Given the description of an element on the screen output the (x, y) to click on. 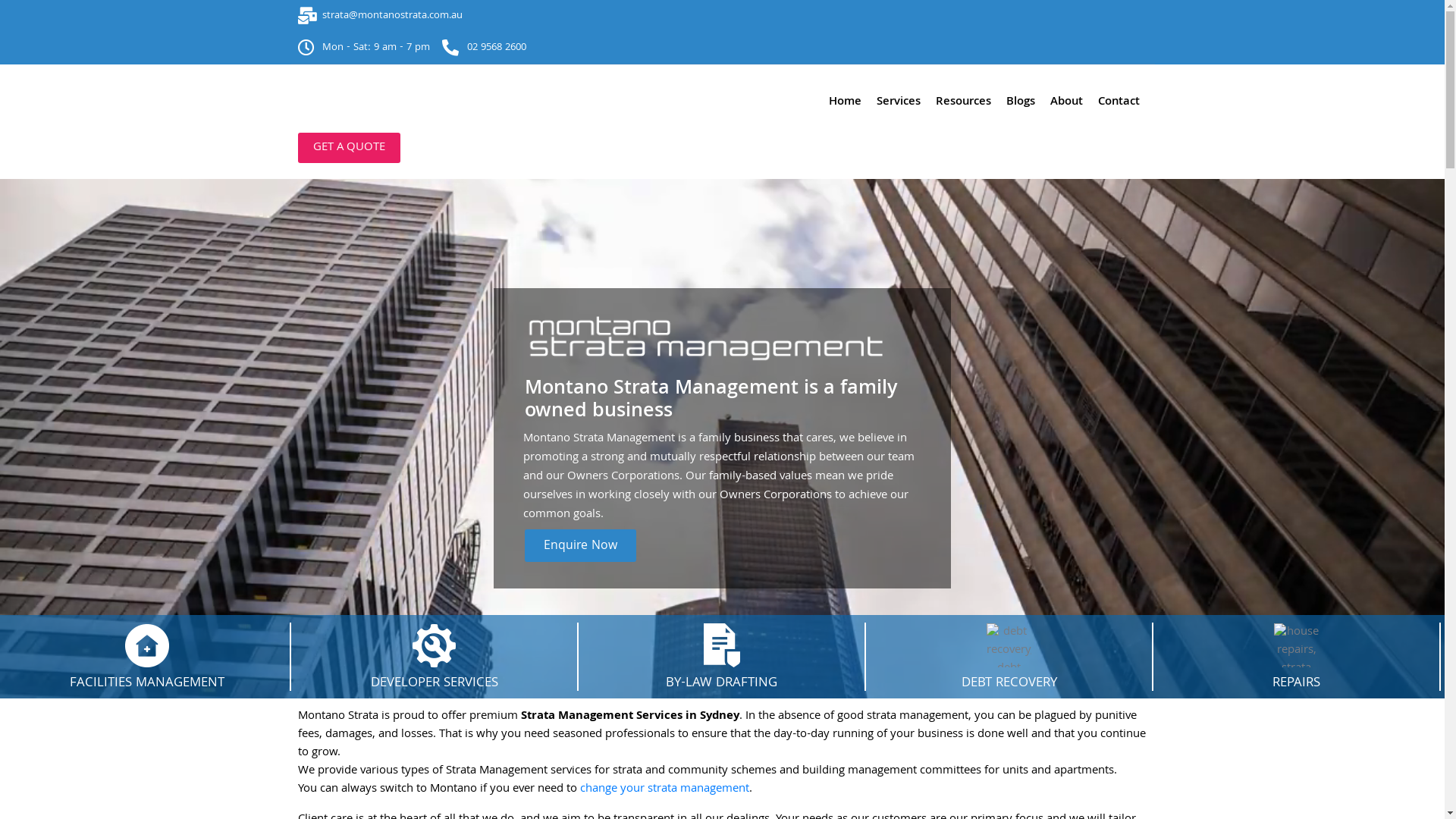
Enquire Now Element type: text (580, 545)
GET A QUOTE Element type: text (348, 147)
Resources Element type: text (963, 102)
Services Element type: text (898, 102)
About Element type: text (1065, 102)
Blogs Element type: text (1019, 102)
strata@montanostrata.com.au Element type: text (721, 15)
Home Element type: text (844, 102)
change your strata management Element type: text (663, 789)
Contact Element type: text (1118, 102)
02 9568 2600 Element type: text (484, 47)
